Given the description of an element on the screen output the (x, y) to click on. 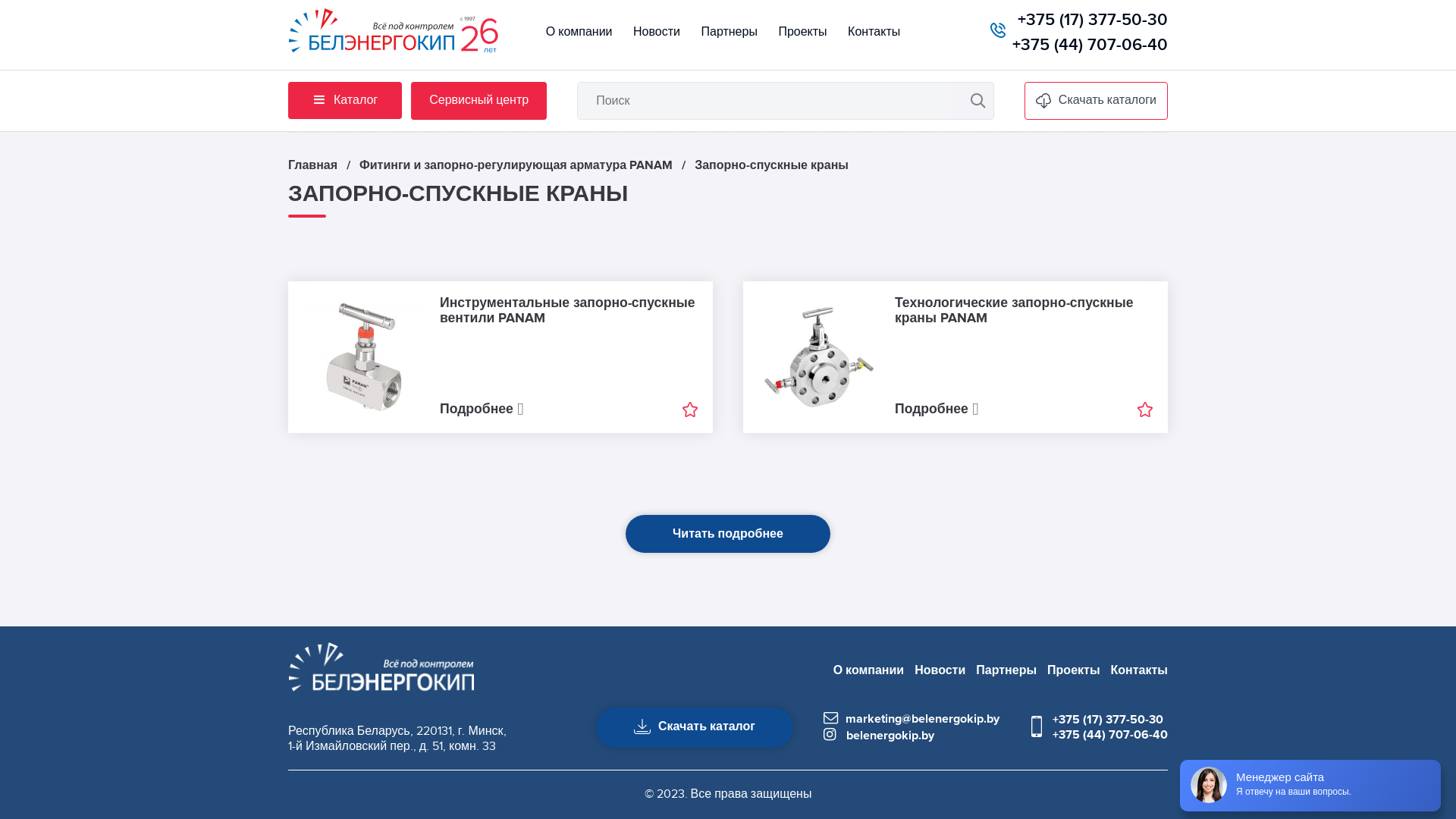
+375 (44) 707-06-40 Element type: text (1089, 44)
+375 (44) 707-06-40 Element type: text (1109, 734)
+375 (17) 377-50-30 Element type: text (1092, 19)
marketing@belenergokip.by Element type: text (911, 718)
belenergokip.by Element type: text (878, 735)
+375 (17) 377-50-30 Element type: text (1109, 719)
